Given the description of an element on the screen output the (x, y) to click on. 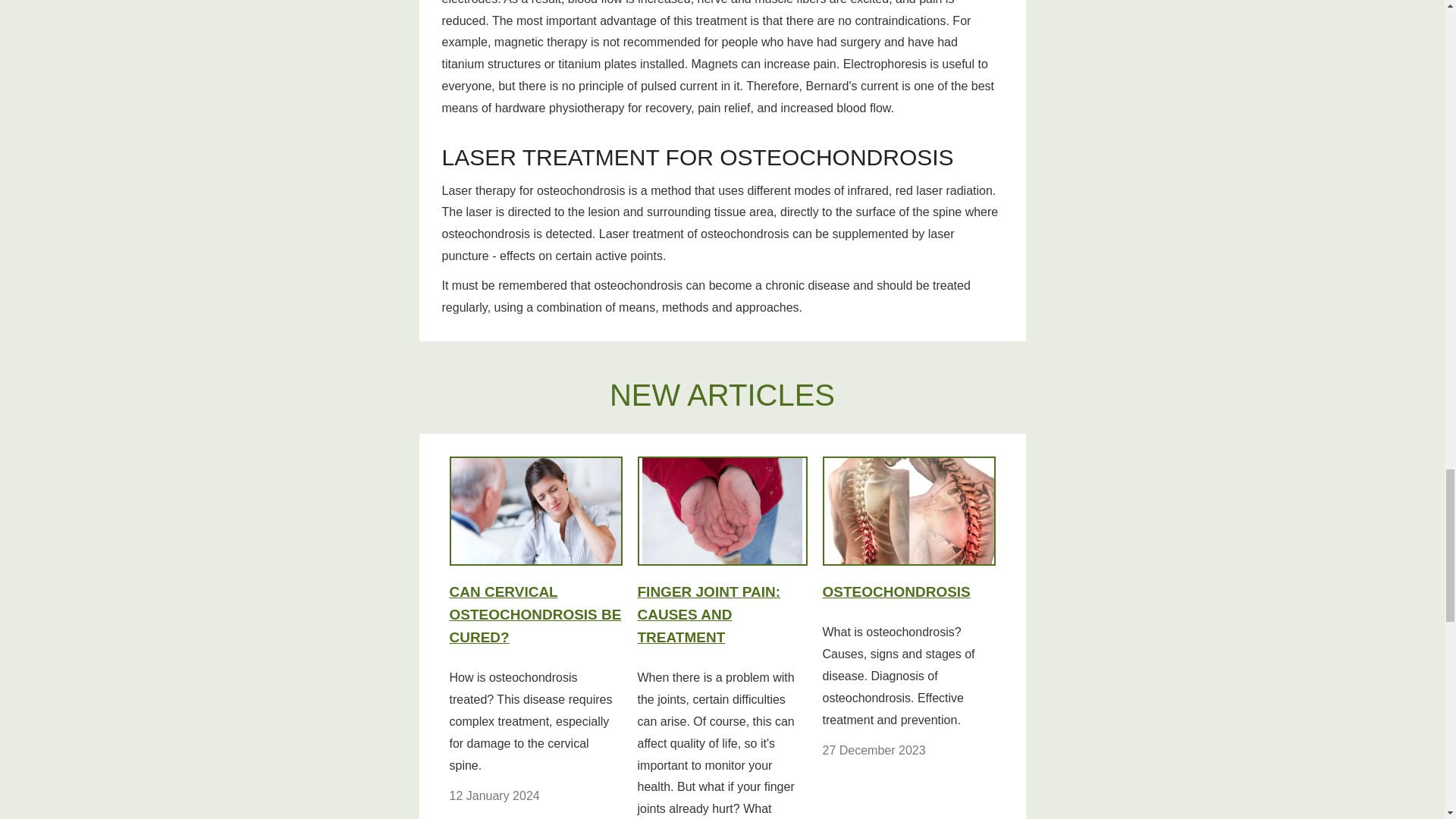
OSTEOCHONDROSIS (908, 533)
